Given the description of an element on the screen output the (x, y) to click on. 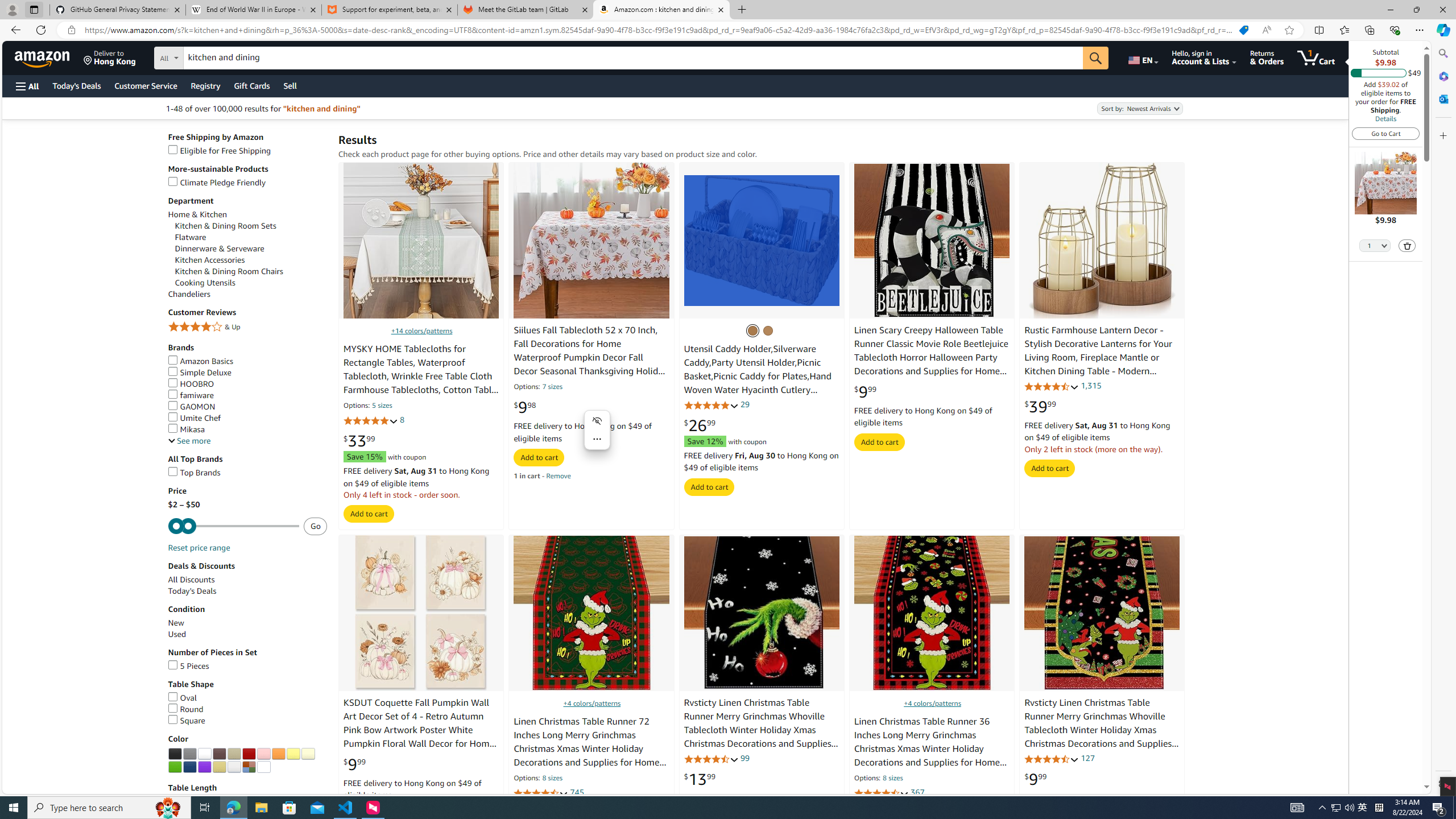
Dinnerware & Serveware (219, 248)
End of World War II in Europe - Wikipedia (253, 9)
5 Pieces (188, 665)
29 (744, 403)
No small basket (753, 330)
AutomationID: p_n_feature_twenty_browse-bin/3254105011 (277, 753)
Yellow (292, 753)
Go (1096, 57)
Open Menu (26, 86)
AutomationID: p_n_feature_twenty_browse-bin/3254106011 (292, 753)
famiware (190, 395)
